Given the description of an element on the screen output the (x, y) to click on. 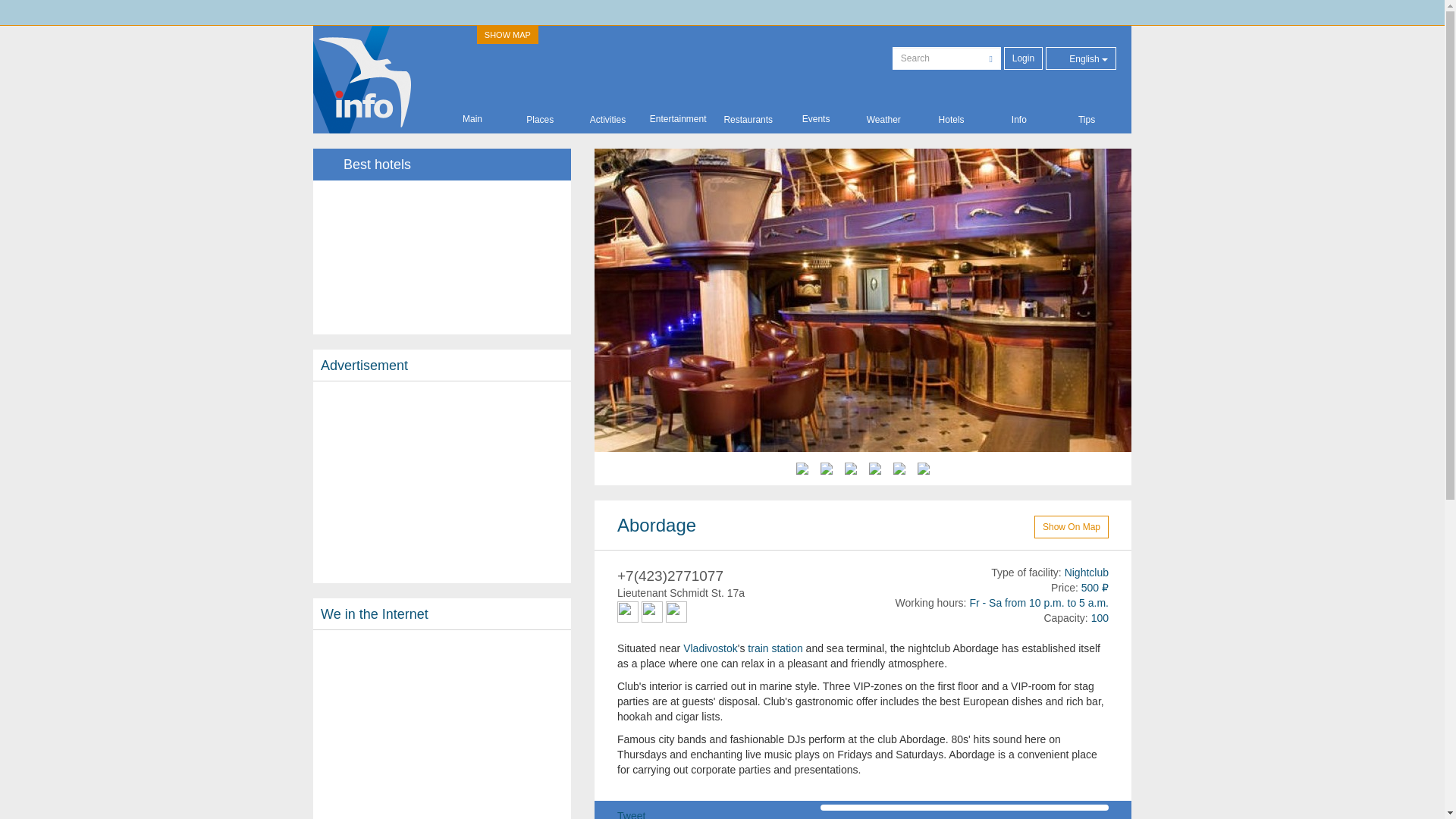
Favorites (991, 525)
Live music (628, 611)
Non-smoking lounge (676, 611)
Payment with credit card: Visa  MasterCard  (652, 611)
